Given the description of an element on the screen output the (x, y) to click on. 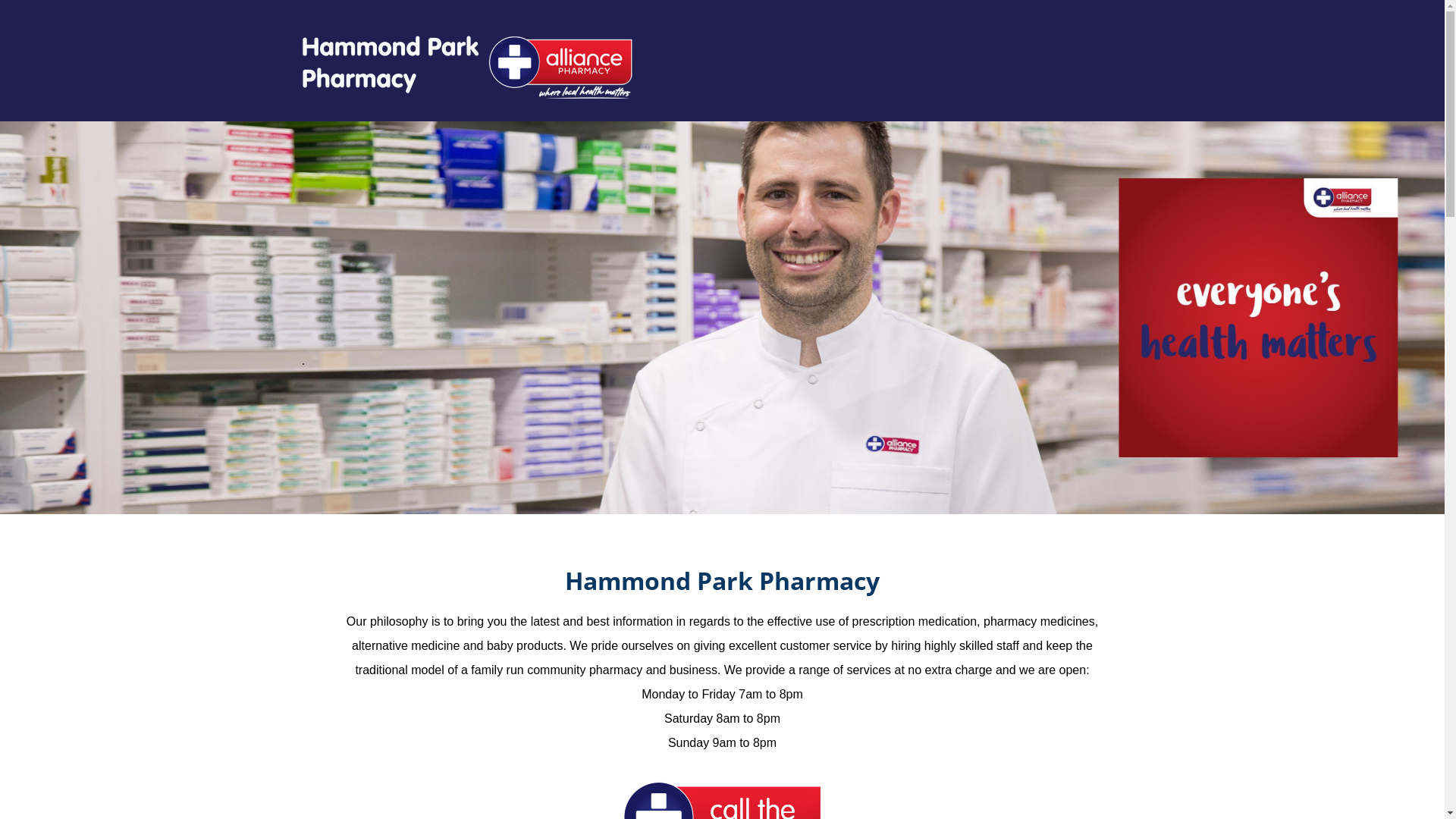
Hammond Park Pharmacy Alliance Element type: hover (464, 66)
